Given the description of an element on the screen output the (x, y) to click on. 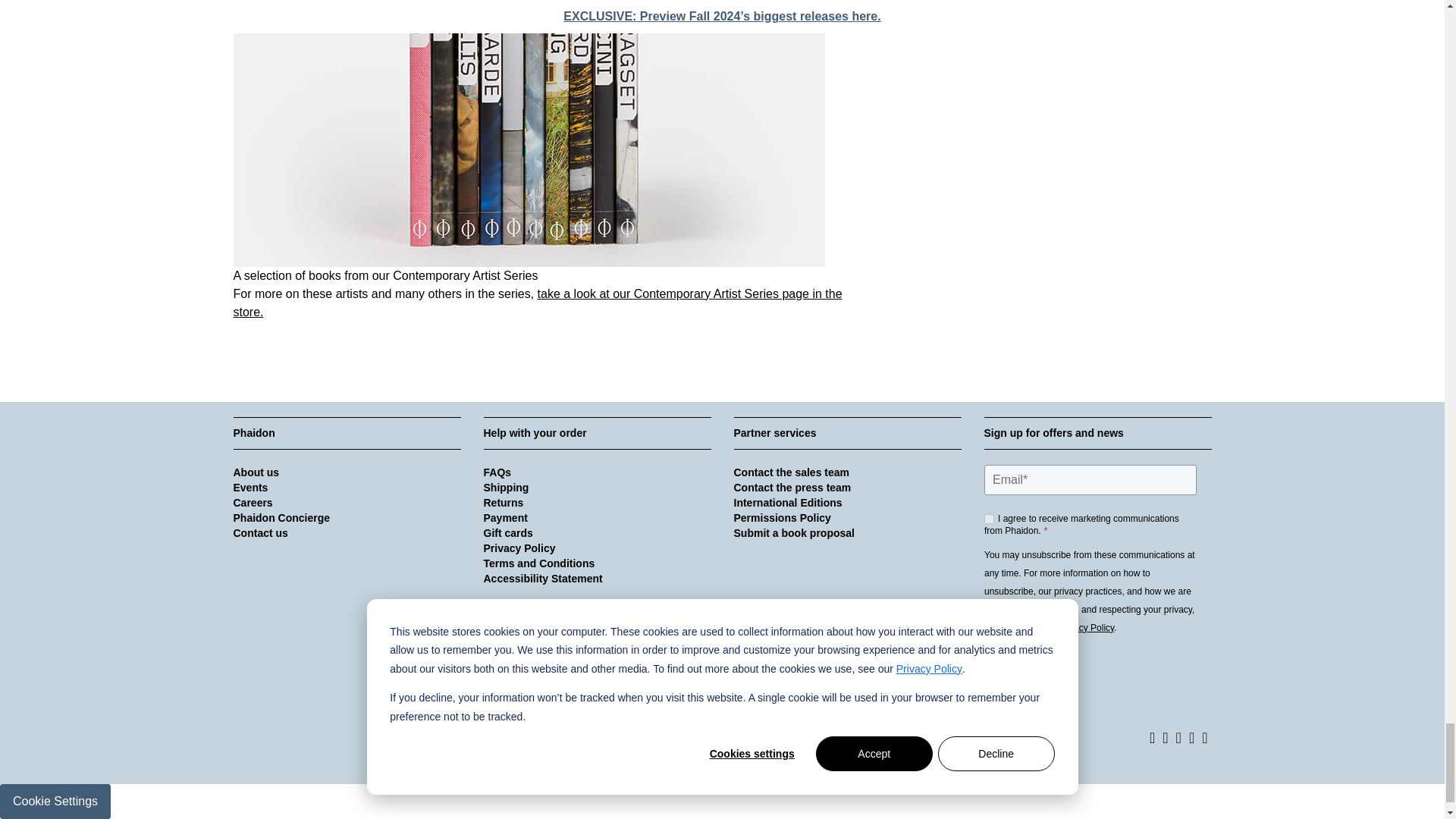
Embedded CTA (1097, 597)
